Given the description of an element on the screen output the (x, y) to click on. 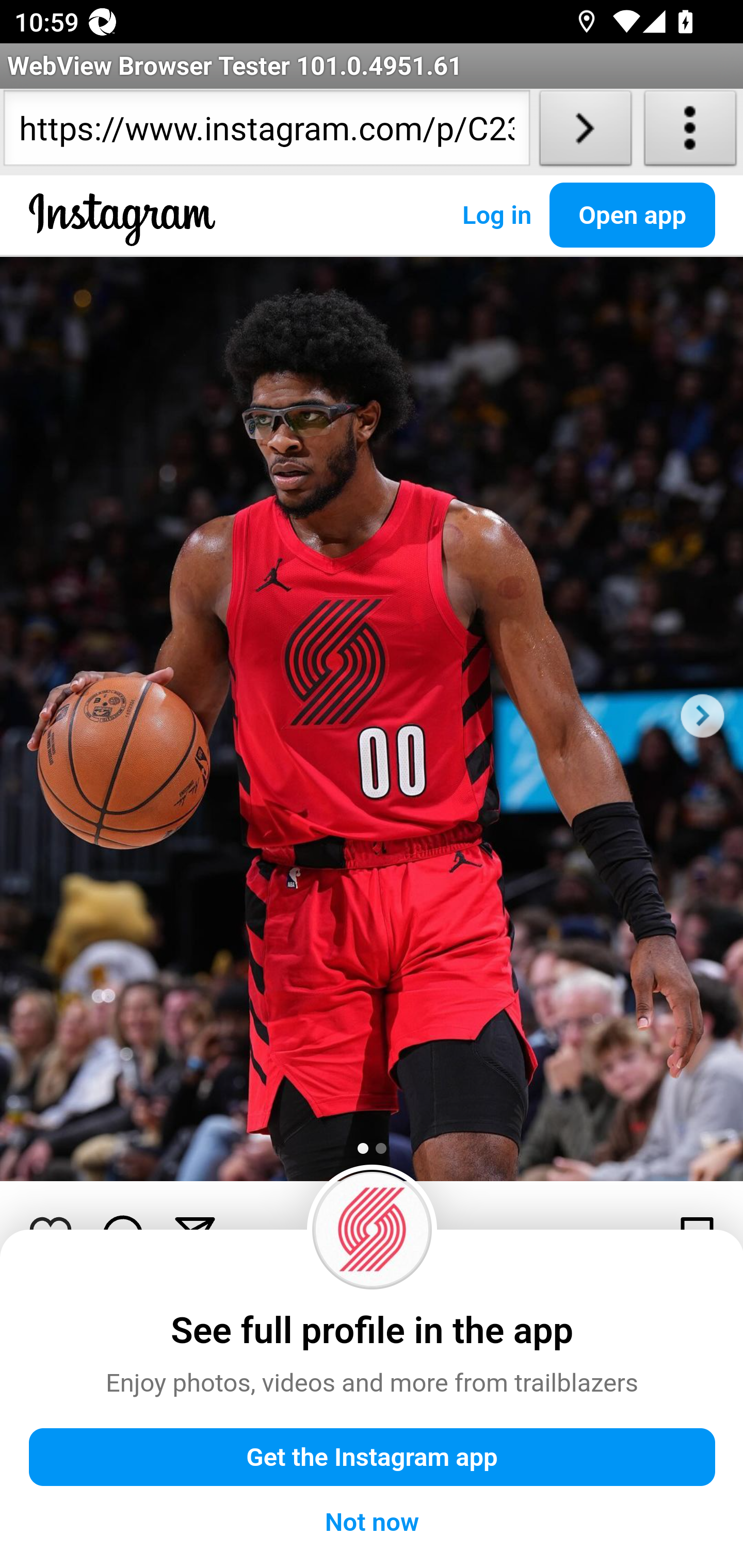
Load URL (585, 132)
About WebView (690, 132)
